Given the description of an element on the screen output the (x, y) to click on. 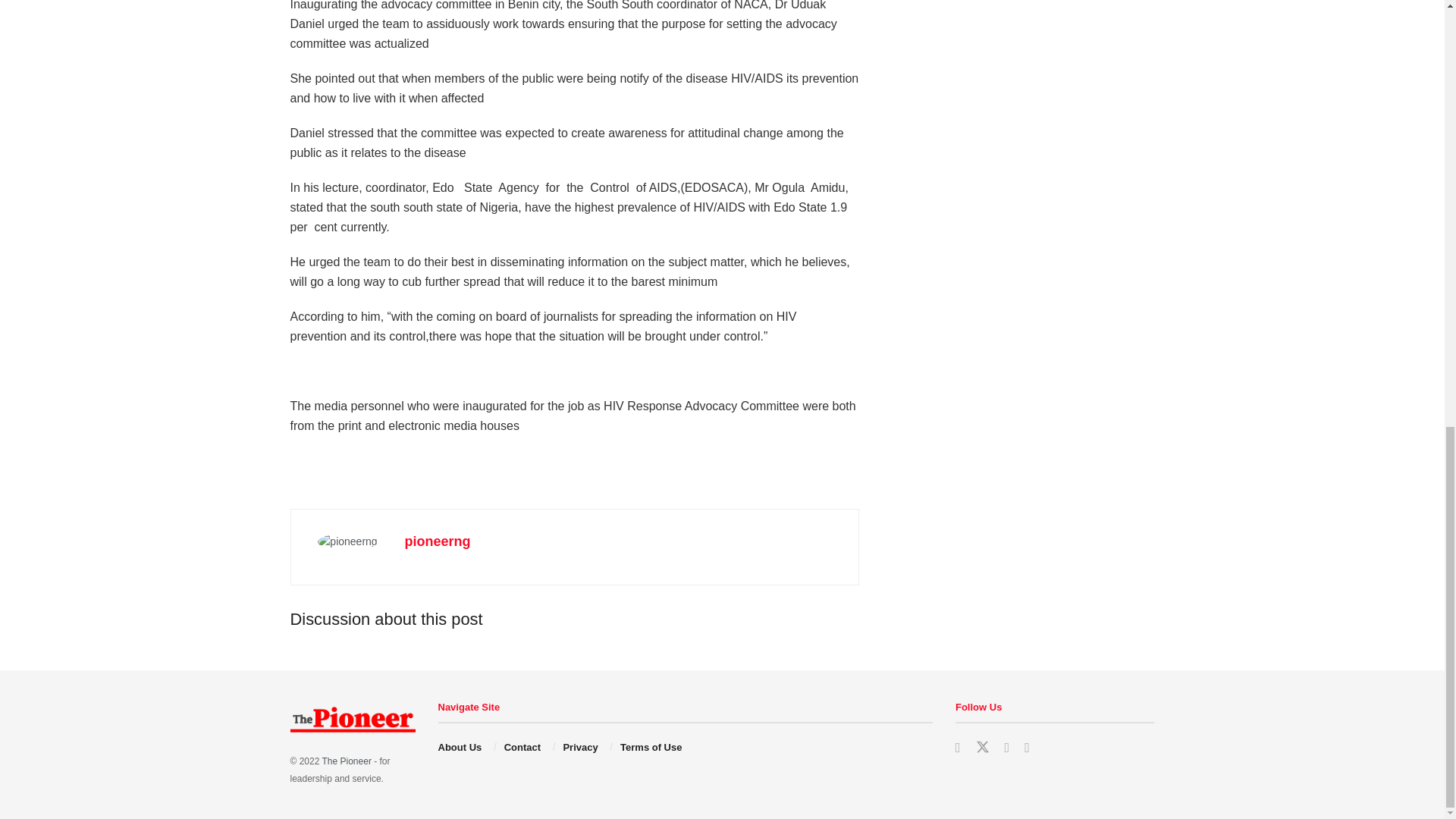
The Pioneer Newspaper (346, 760)
